Given the description of an element on the screen output the (x, y) to click on. 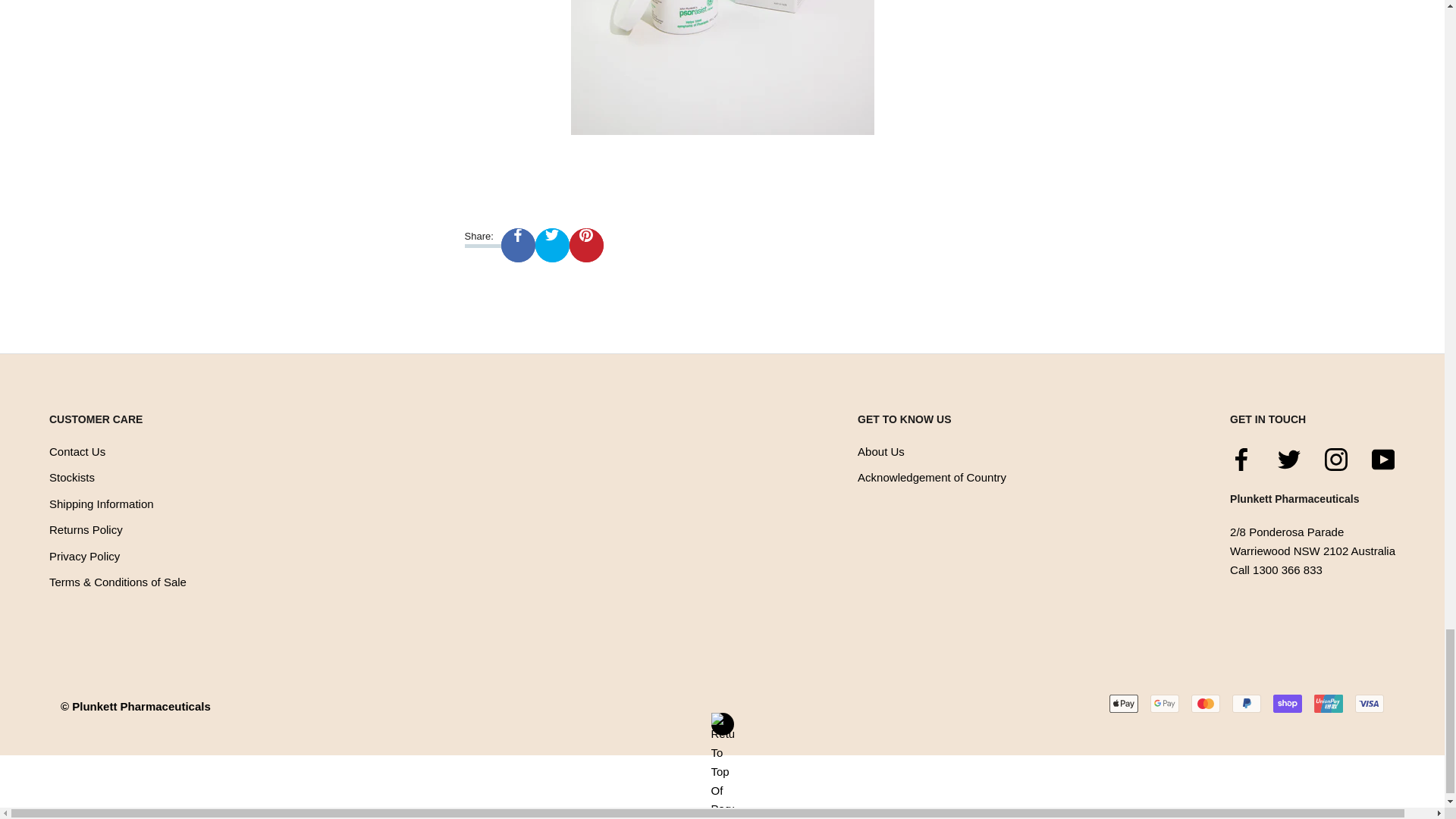
Click to open in new window (1289, 458)
Click to open in new window (1336, 458)
Google Pay (1164, 703)
Click to open in new window (586, 245)
Click to open in new window (552, 245)
Union Pay (1328, 703)
Click to open in new window (517, 245)
Apple Pay (1123, 703)
Shop Pay (1286, 703)
Mastercard (1205, 703)
Click to open in new window (1241, 458)
Click to open in new window (1382, 458)
Visa (1369, 703)
PayPal (1245, 703)
